Given the description of an element on the screen output the (x, y) to click on. 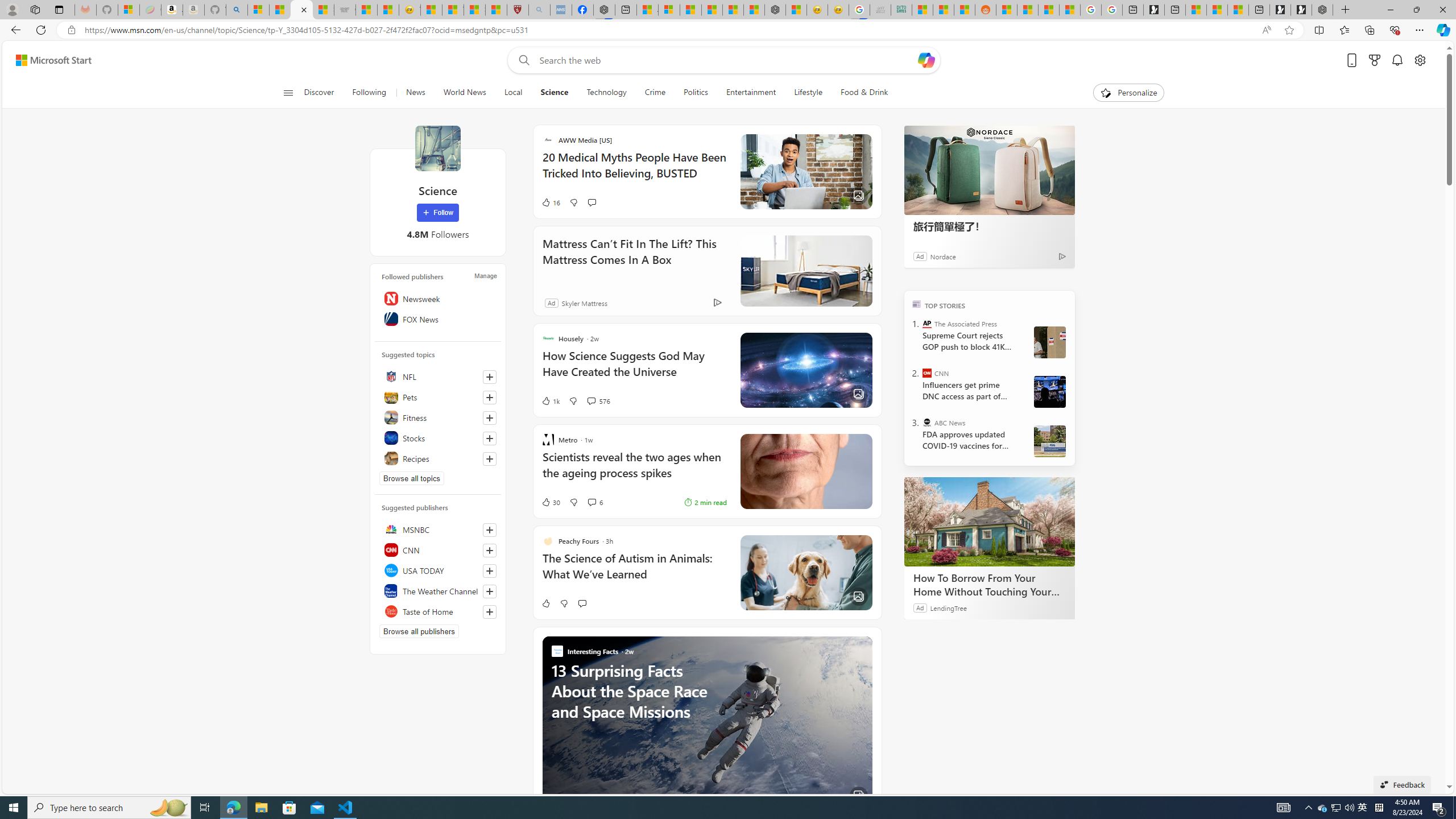
How Science Suggests God May Have Created the Universe (633, 369)
View comments 6 Comment (594, 502)
Skyler Mattress (584, 302)
